Given the description of an element on the screen output the (x, y) to click on. 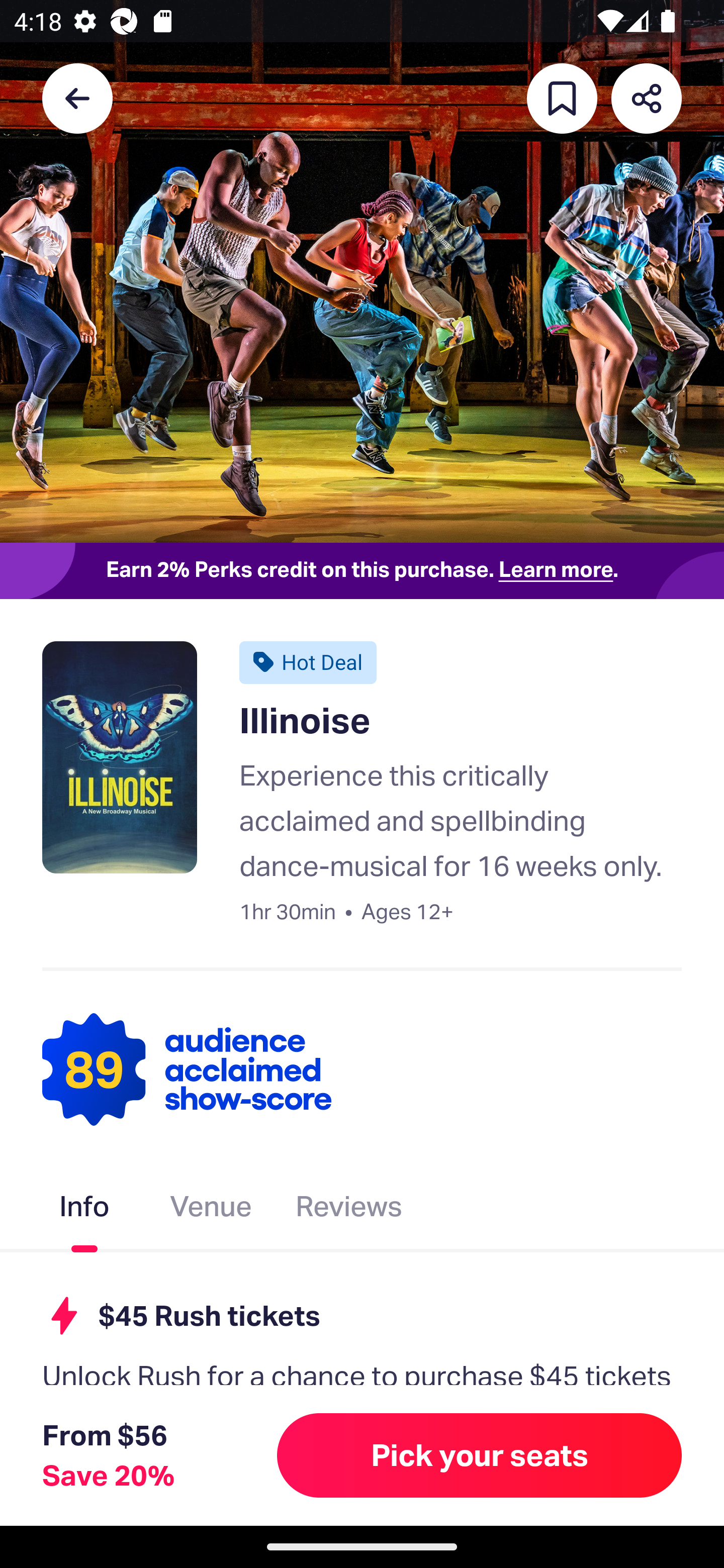
Earn 2% Perks credit on this purchase. Learn more. (362, 570)
Venue (210, 1210)
Reviews (348, 1210)
Pick your seats (479, 1454)
